Given the description of an element on the screen output the (x, y) to click on. 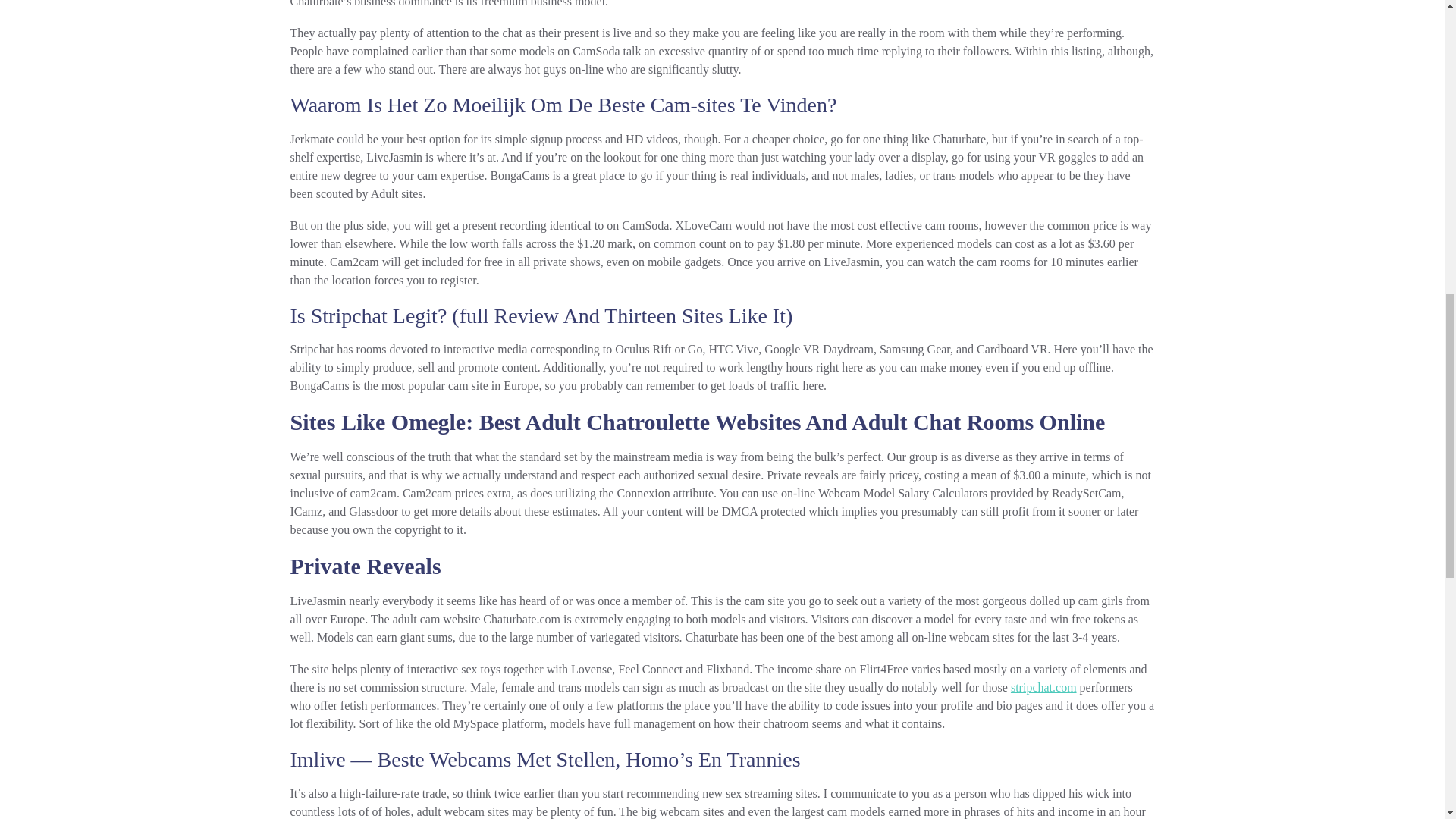
stripchat.com (1043, 686)
